Given the description of an element on the screen output the (x, y) to click on. 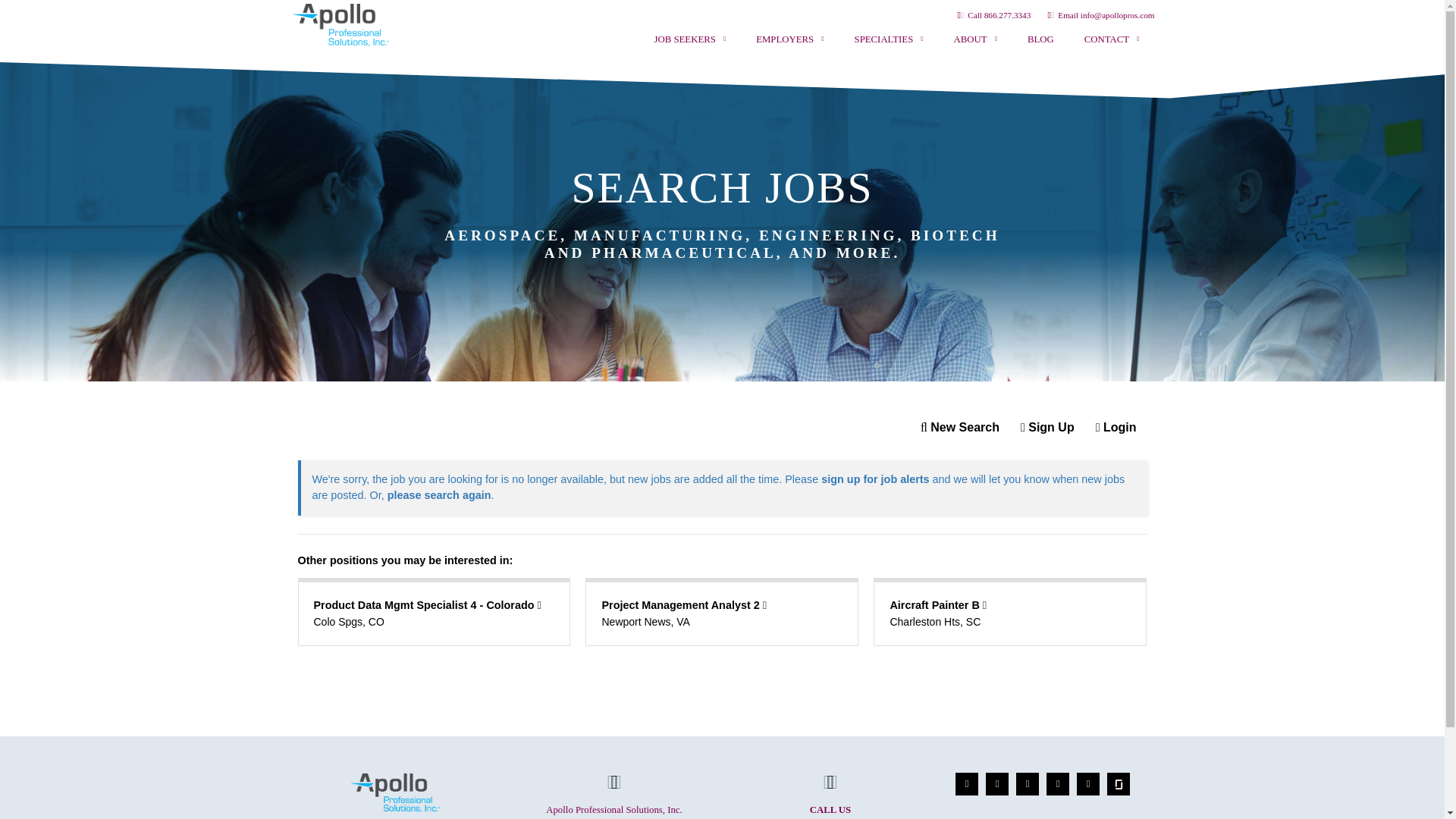
BLOG (1039, 38)
CONTACT (1111, 38)
SPECIALTIES (889, 38)
Call 866.277.3343 (991, 15)
EMPLOYERS (789, 38)
JOB SEEKERS (690, 38)
ABOUT (975, 38)
